Given the description of an element on the screen output the (x, y) to click on. 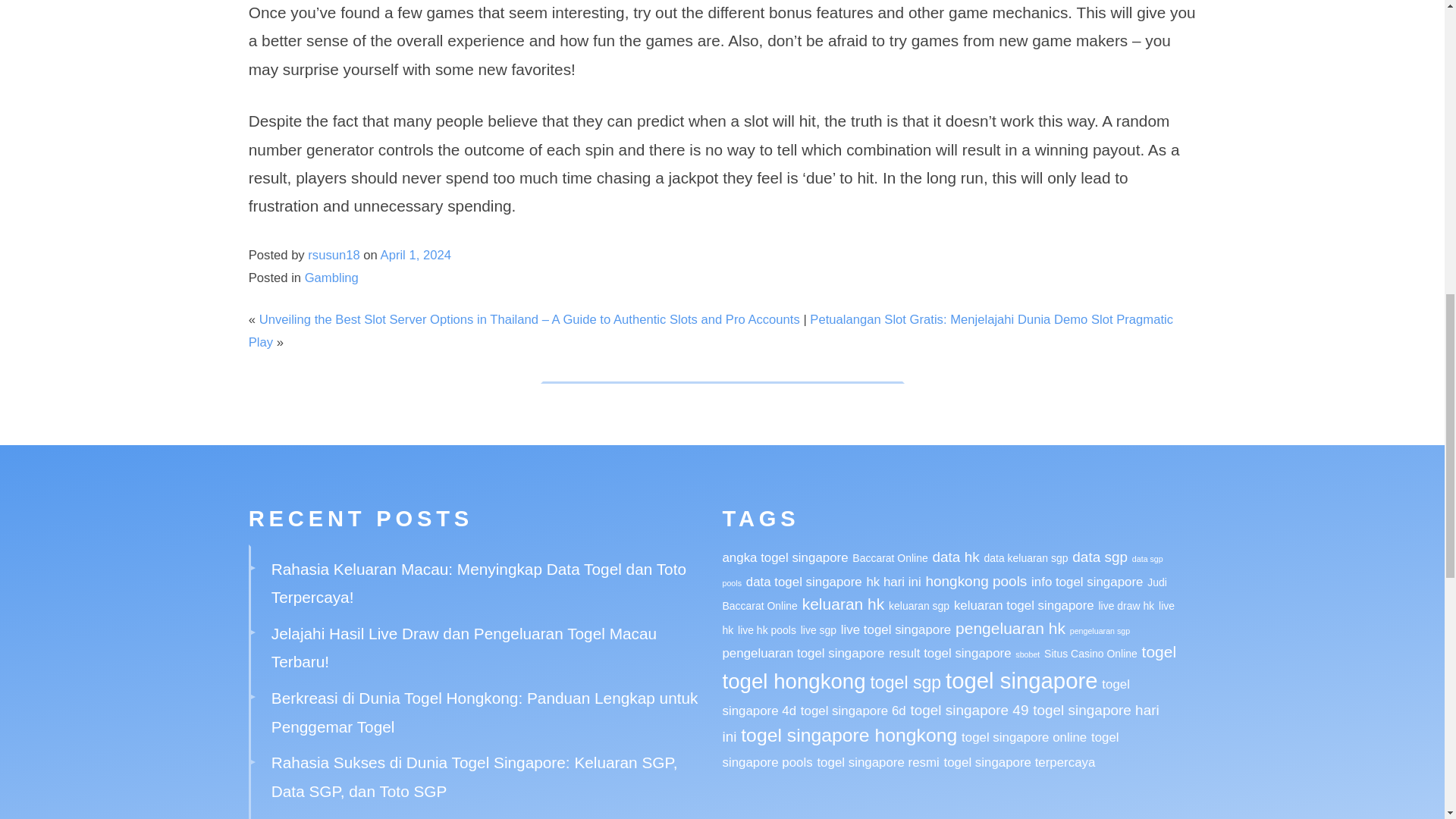
pengeluaran hk (1010, 628)
rsusun18 (333, 255)
pengeluaran sgp (1099, 630)
sbobet (1026, 654)
data togel singapore (803, 581)
live sgp (817, 630)
Baccarat Online (889, 558)
Gambling (331, 278)
data sgp pools (941, 570)
result togel singapore (949, 653)
live draw hk (1125, 605)
live hk (948, 617)
angka togel singapore (784, 557)
